Given the description of an element on the screen output the (x, y) to click on. 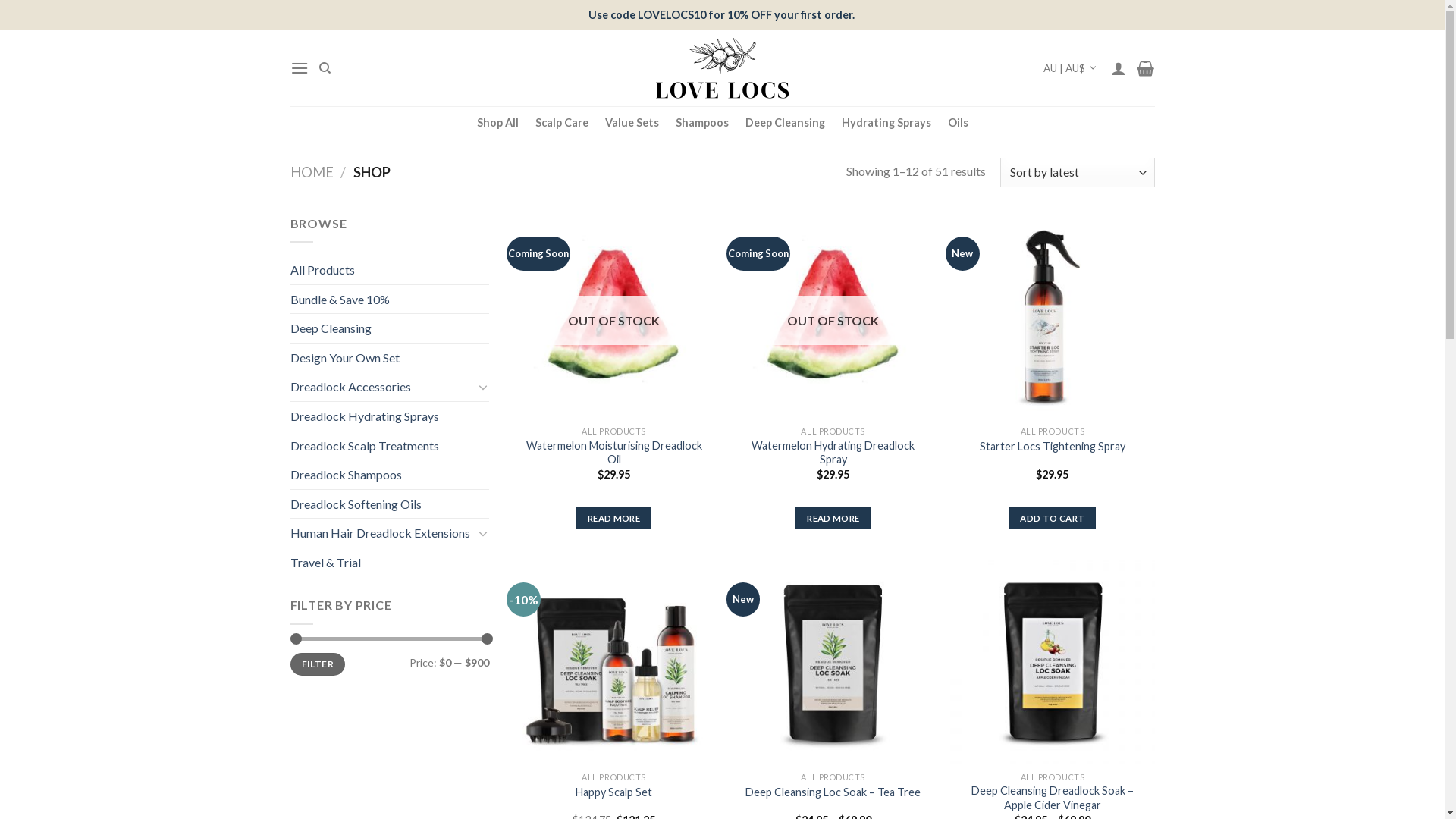
Hydrating Sprays Element type: text (886, 122)
Dreadlock Shampoos Element type: text (389, 474)
Dreadlock Scalp Treatments Element type: text (389, 445)
Happy Scalp Set Element type: text (613, 792)
Dreadlock Accessories Element type: text (381, 386)
Deep Cleansing Element type: text (389, 327)
Oils Element type: text (957, 122)
READ MORE Element type: text (613, 518)
ADD TO CART Element type: text (1052, 518)
Love Locs Element type: hover (721, 68)
All Products Element type: text (389, 269)
Design Your Own Set Element type: text (389, 357)
Travel & Trial Element type: text (389, 562)
Human Hair Dreadlock Extensions Element type: text (381, 532)
Cart Element type: hover (1145, 67)
HOME Element type: text (310, 171)
Scalp Care Element type: text (561, 122)
Bundle & Save 10% Element type: text (389, 299)
Shampoos Element type: text (701, 122)
Dreadlock Hydrating Sprays Element type: text (389, 415)
Starter Locs Tightening Spray Element type: text (1052, 446)
Deep Cleansing Element type: text (784, 122)
FILTER Element type: text (317, 664)
Value Sets Element type: text (631, 122)
Shop All Element type: text (496, 122)
Watermelon Hydrating Dreadlock Spray Element type: text (833, 452)
Watermelon Moisturising Dreadlock Oil Element type: text (614, 452)
Dreadlock Softening Oils Element type: text (389, 503)
READ MORE Element type: text (832, 518)
